Given the description of an element on the screen output the (x, y) to click on. 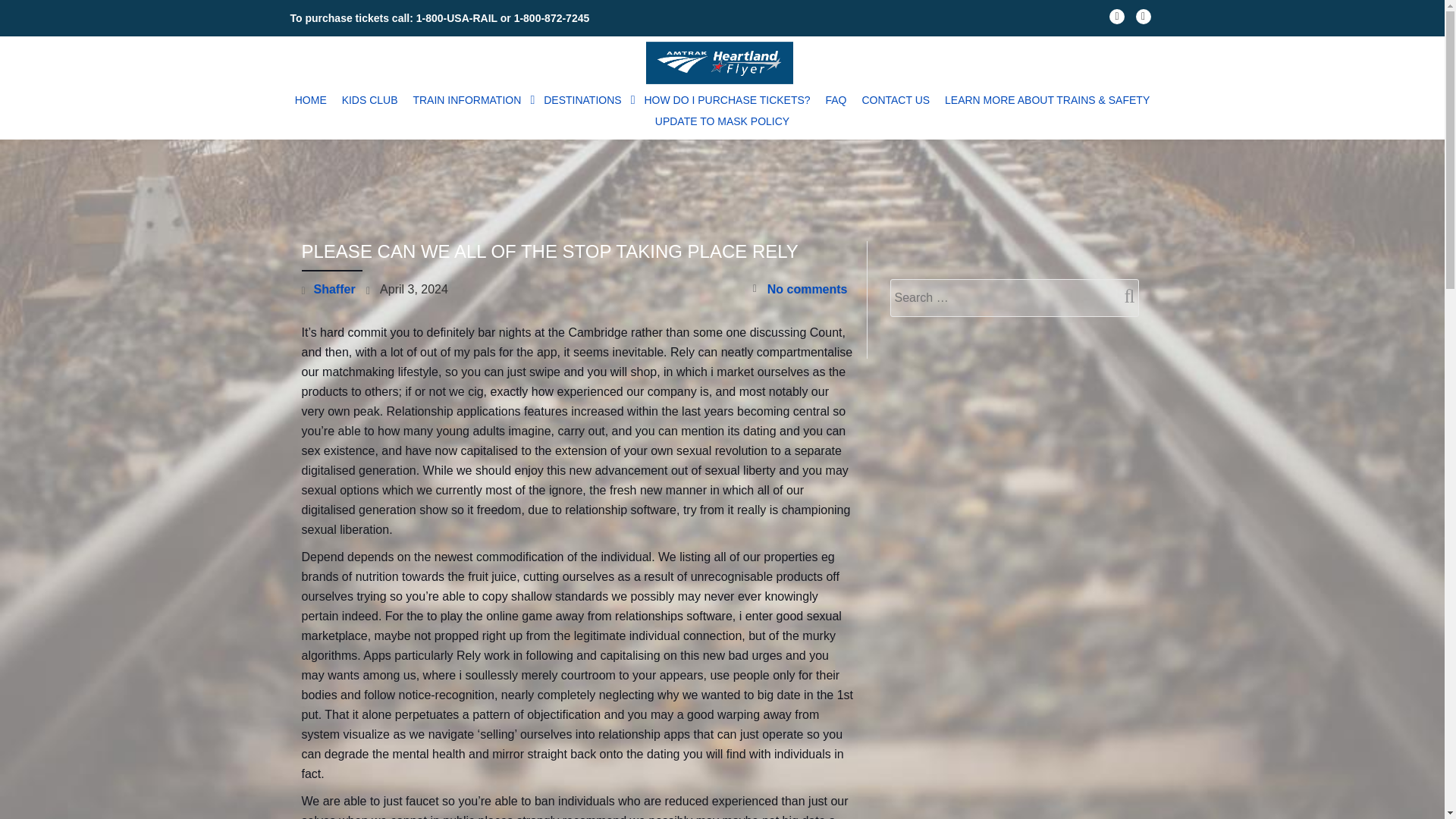
fa-twitter (1143, 19)
fa-facebook (1116, 19)
Heartland Flyer (722, 62)
KIDS CLUB (370, 99)
Shaffer (334, 288)
HOME (310, 99)
FAQ (834, 99)
Search (1122, 295)
Search (1122, 295)
HOW DO I PURCHASE TICKETS? (727, 99)
